Given the description of an element on the screen output the (x, y) to click on. 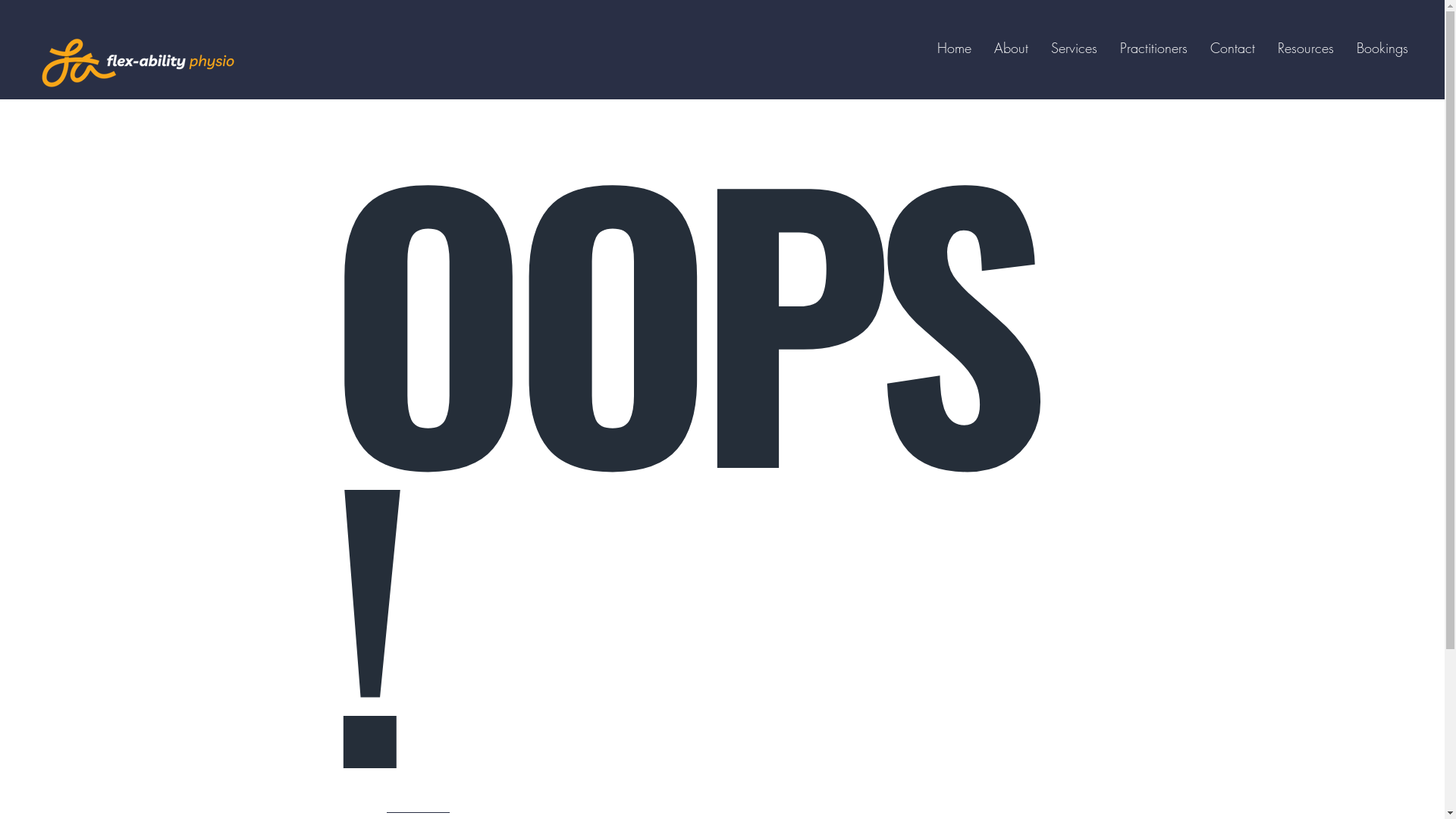
About Element type: text (1010, 47)
Home Element type: text (953, 47)
Services Element type: text (1073, 47)
